Given the description of an element on the screen output the (x, y) to click on. 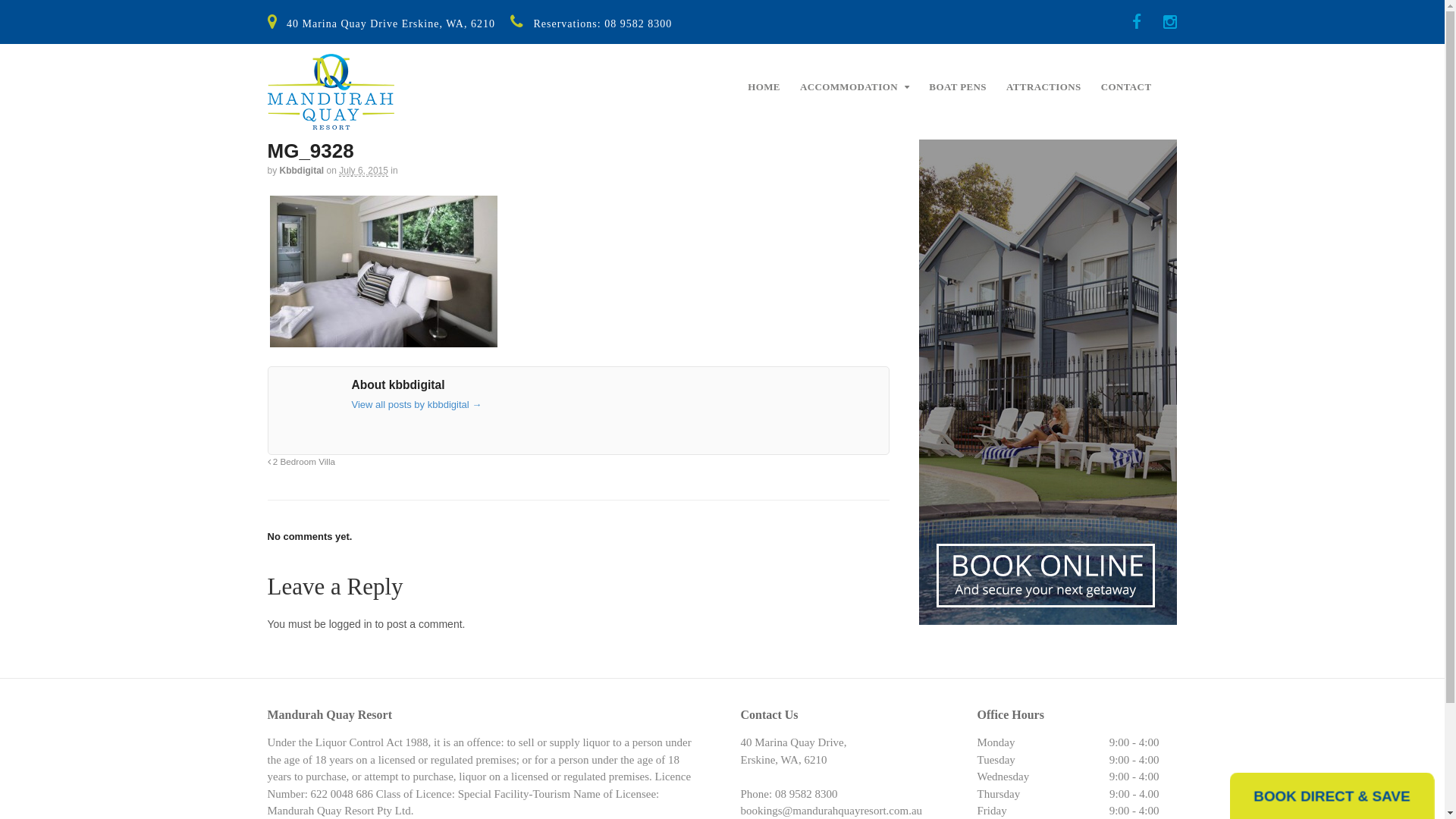
BOOK DIRECT & SAVE Element type: text (1327, 795)
40 Marina Quay Drive Erskine, WA, 6210 Element type: text (390, 23)
ATTRACTIONS Element type: text (1043, 87)
Kbbdigital Element type: text (301, 170)
CONTACT Element type: text (1126, 87)
2 Bedroom Villa Element type: text (300, 461)
08 9582 8300 Element type: text (637, 23)
HOME Element type: text (763, 87)
BOAT PENS Element type: text (957, 87)
ACCOMMODATION Element type: text (854, 87)
